Given the description of an element on the screen output the (x, y) to click on. 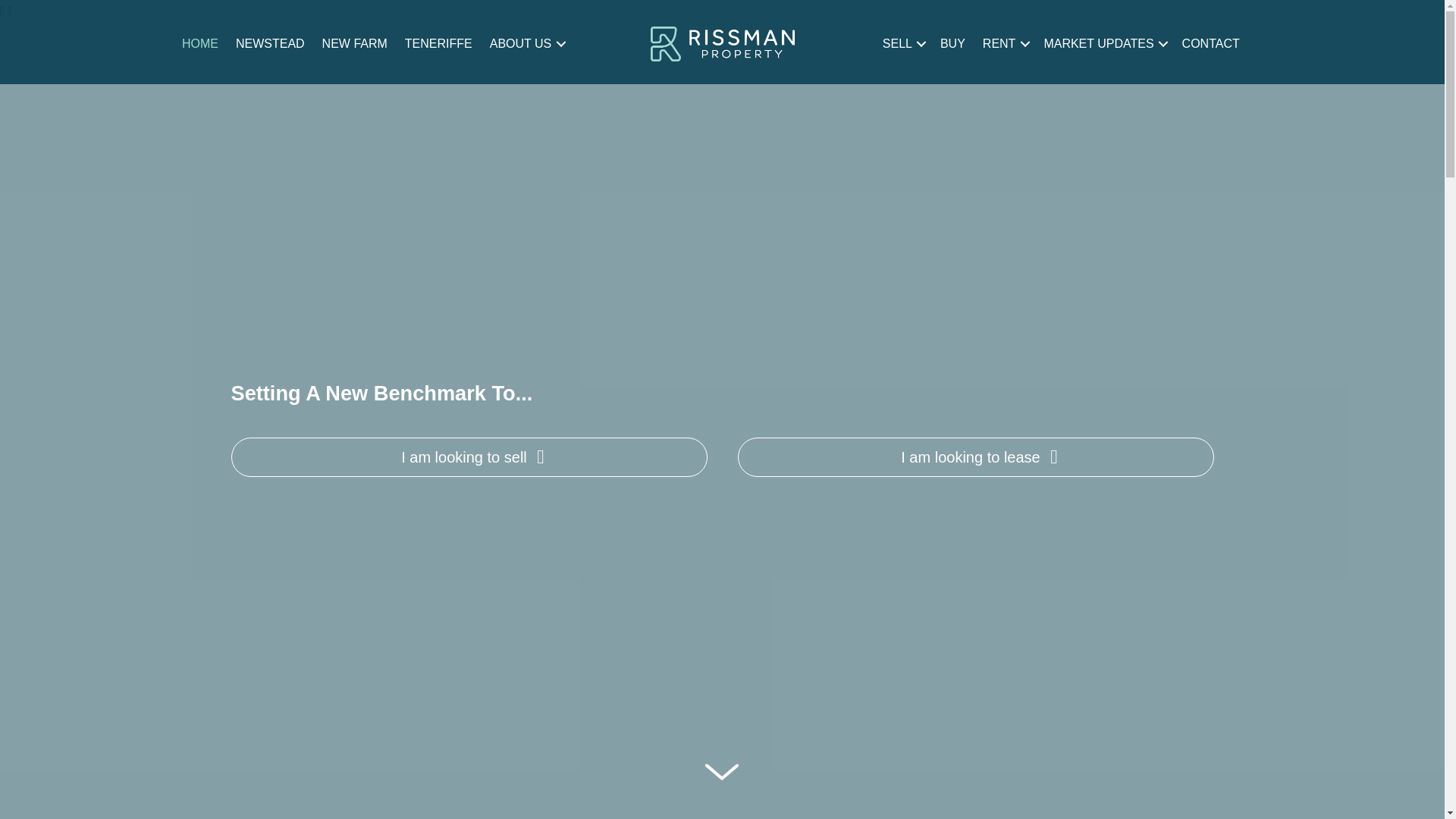
SELL (903, 43)
ABOUT US (525, 43)
RENT (1004, 43)
rissman-property-landscape-logo-tagline-inverted-rgb (722, 43)
HOME (200, 43)
MARKET UPDATES (1103, 43)
BUY (952, 43)
TENERIFFE (438, 43)
NEW FARM (355, 43)
NEWSTEAD (270, 43)
